Given the description of an element on the screen output the (x, y) to click on. 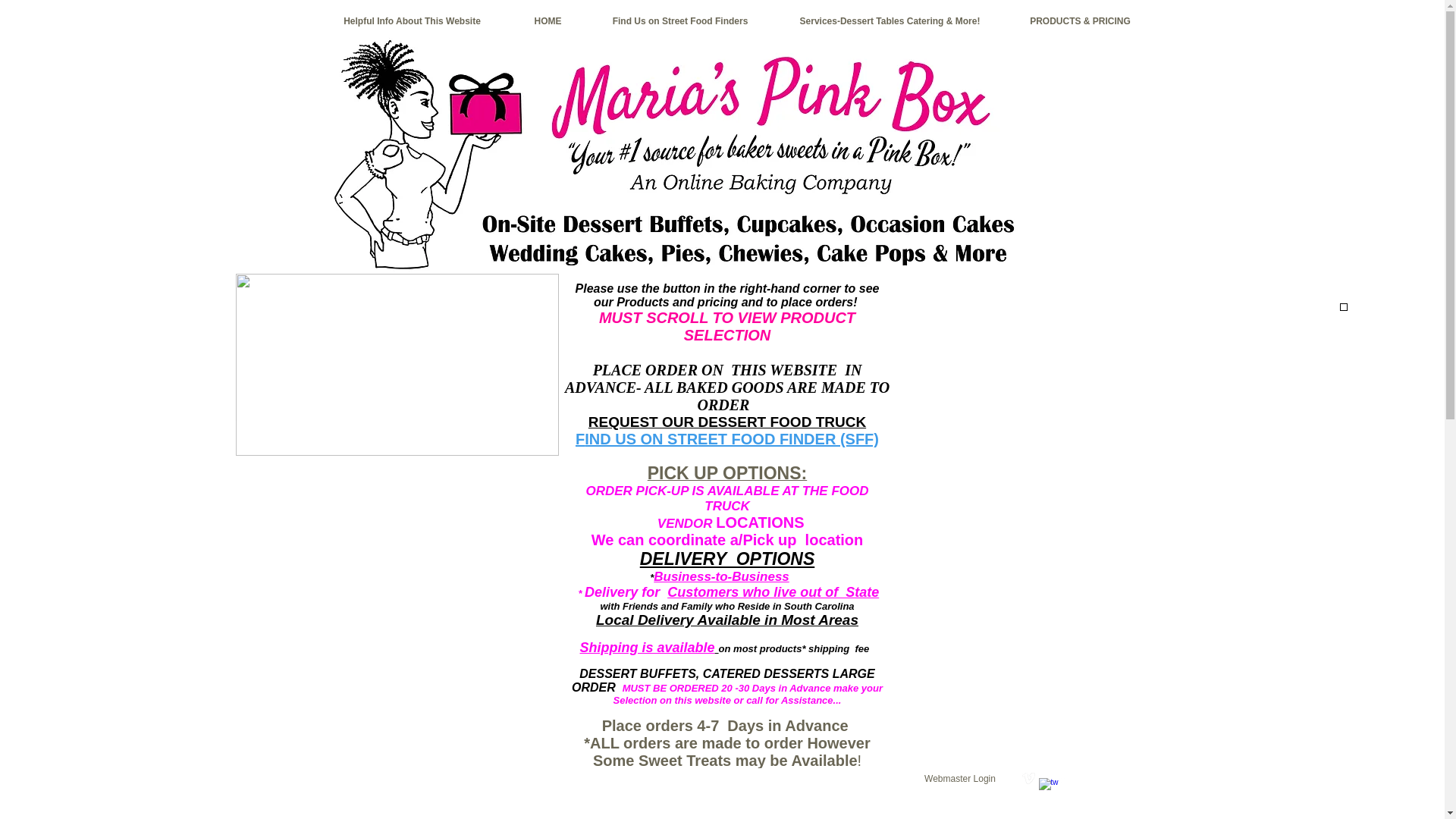
HOME (547, 21)
Find Us on Street Food Finders (680, 21)
Helpful Info About This Website (412, 21)
Webmaster Login (959, 778)
